Given the description of an element on the screen output the (x, y) to click on. 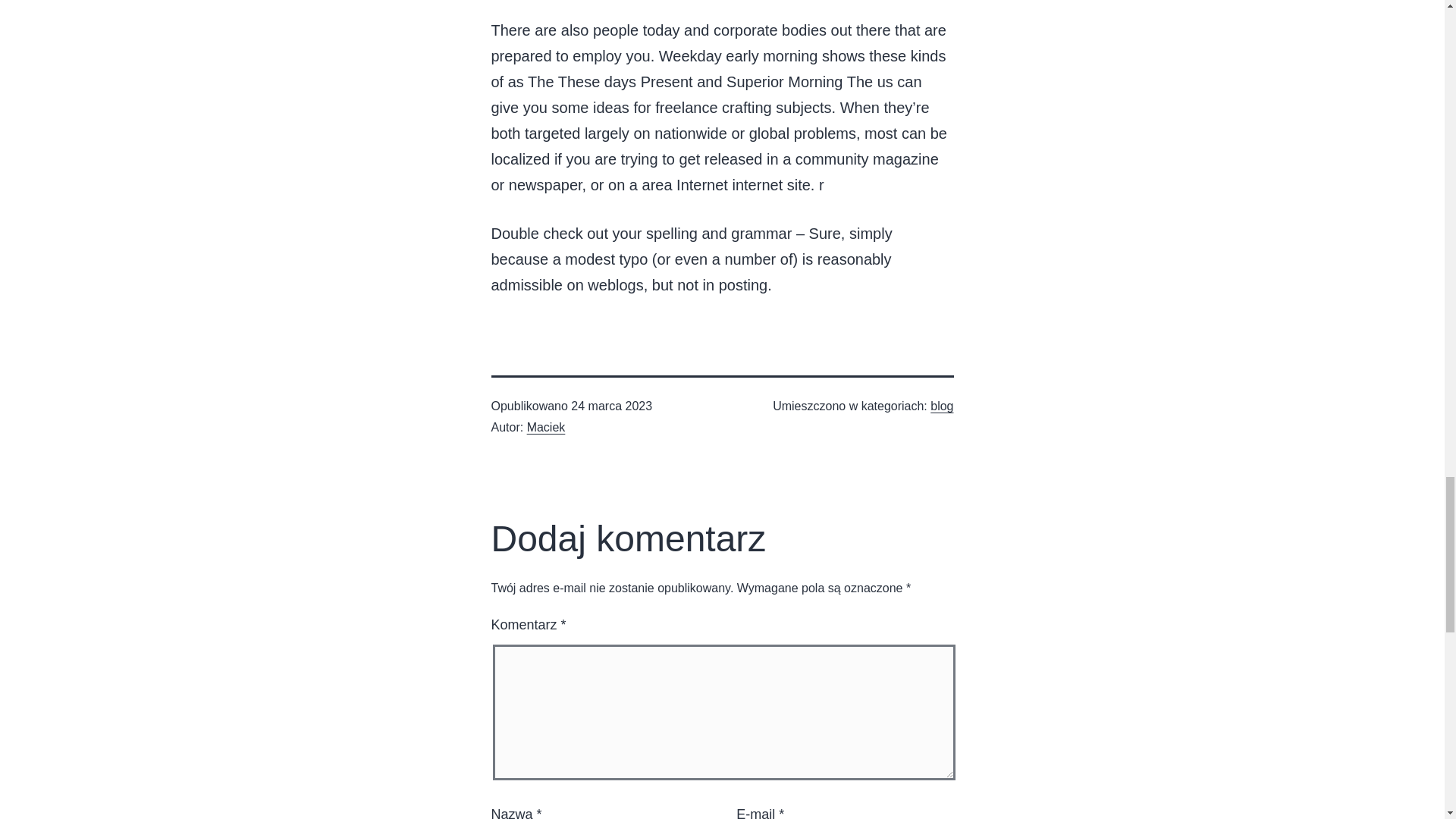
Maciek (546, 427)
blog (941, 405)
